Given the description of an element on the screen output the (x, y) to click on. 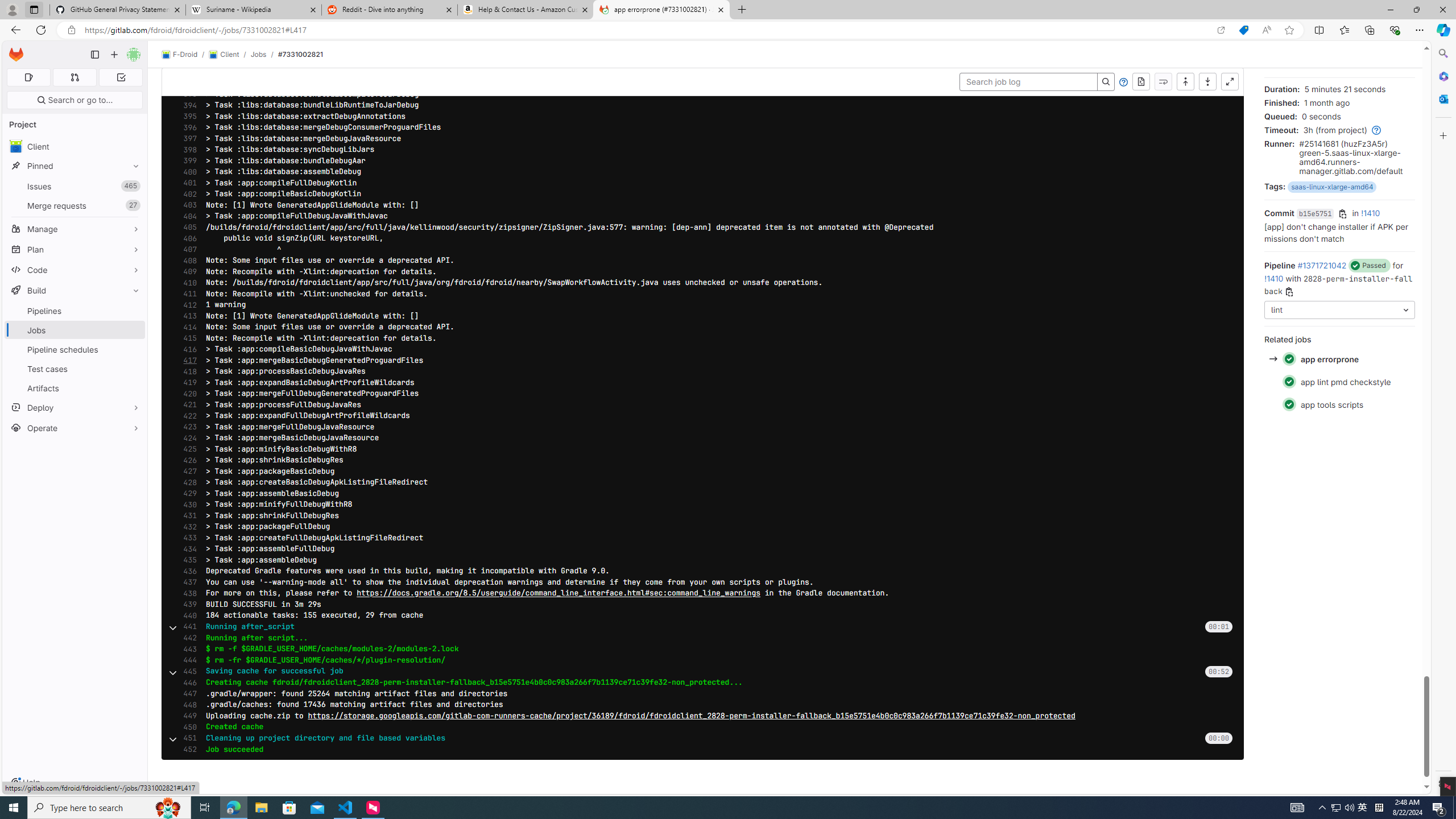
Pin Pipelines (132, 310)
Show complete raw (1141, 81)
Unpin Issues (132, 186)
Create new... (113, 54)
Manage (74, 228)
Code (74, 269)
431 (186, 515)
Help (1123, 81)
Jobs (258, 53)
avatar (15, 146)
